Given the description of an element on the screen output the (x, y) to click on. 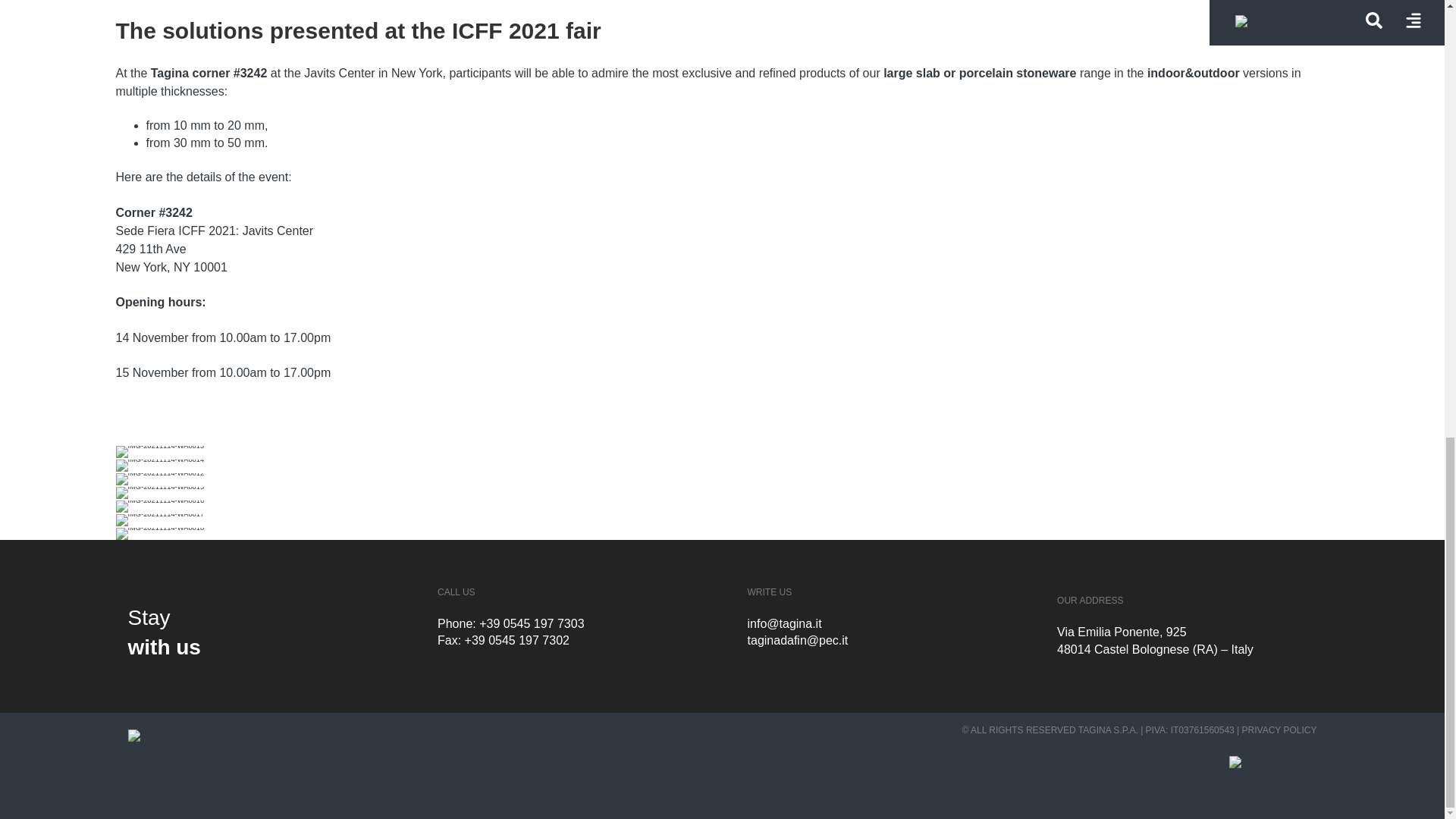
favicon-3-300x300 (163, 735)
